Given the description of an element on the screen output the (x, y) to click on. 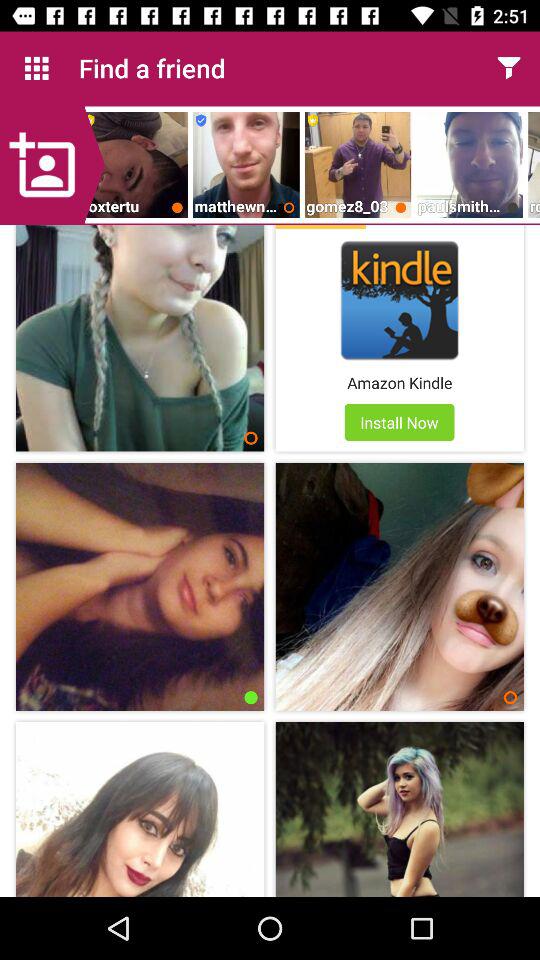
scroll to install now item (399, 421)
